Given the description of an element on the screen output the (x, y) to click on. 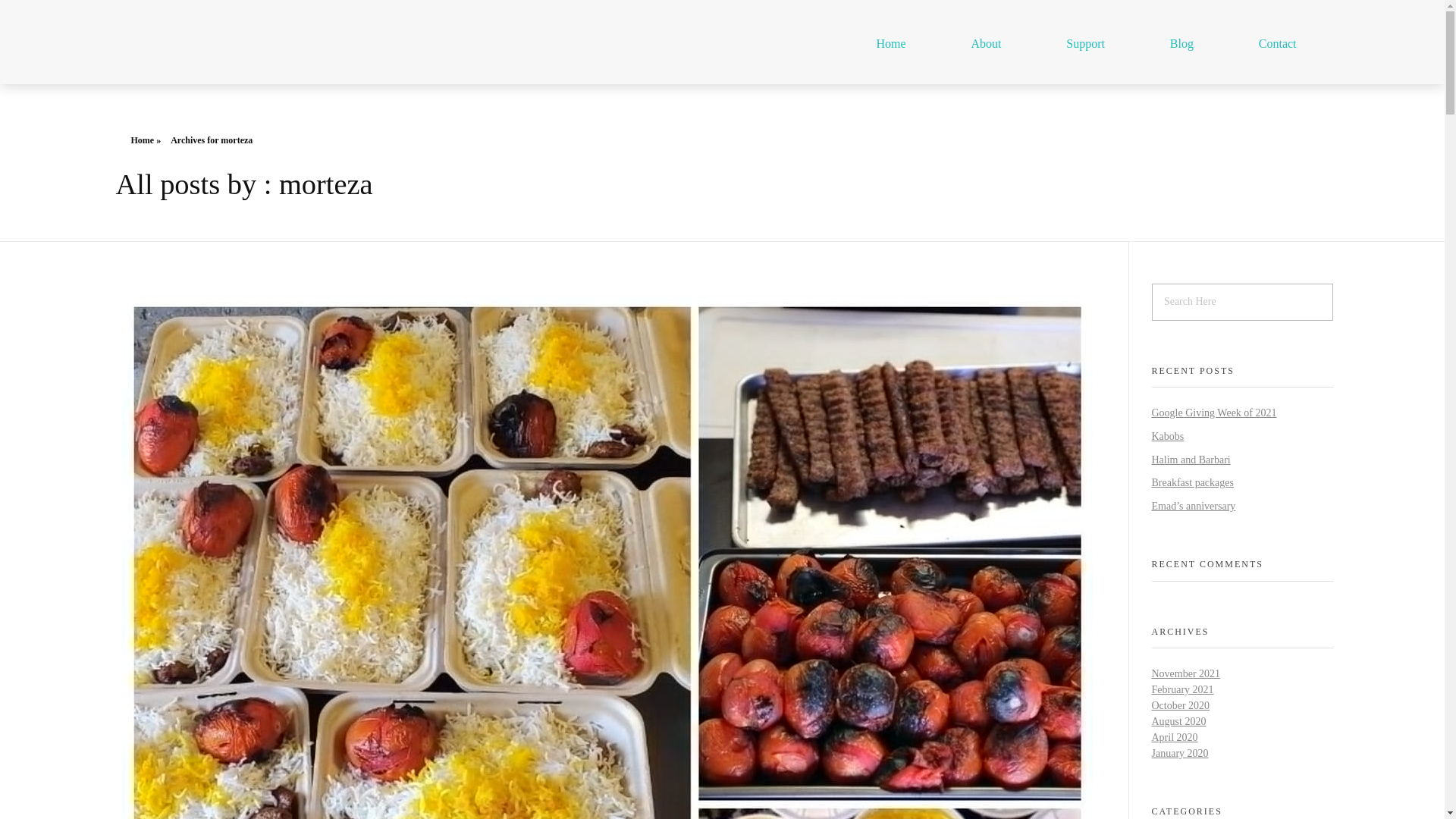
Google Giving Week of 2021 (1213, 412)
About (985, 43)
Home (142, 140)
Search (42, 13)
Blog (1181, 43)
November 2021 (1185, 673)
Kabobs (1167, 436)
Contact (1277, 43)
Emad Foundation (187, 55)
Home (890, 43)
